Given the description of an element on the screen output the (x, y) to click on. 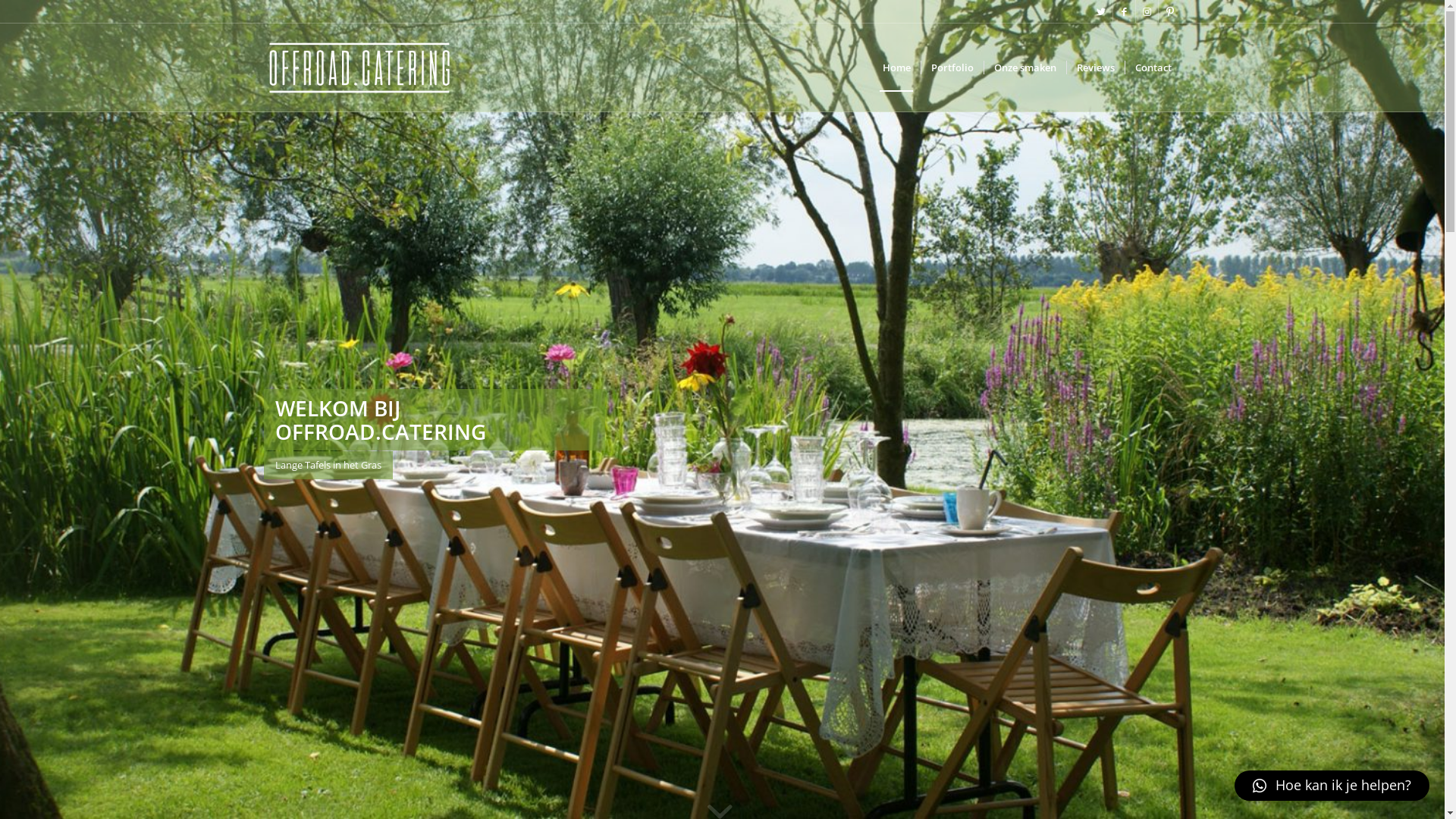
Home Element type: text (895, 67)
Facebook Element type: hover (1124, 11)
Twitter Element type: hover (1101, 11)
Pinterest Element type: hover (1169, 11)
Contact Element type: text (1151, 67)
Hoe kan ik je helpen? Element type: text (1331, 785)
Reviews Element type: text (1095, 67)
Portfolio Element type: text (951, 67)
Instagram Element type: hover (1146, 11)
Onze smaken Element type: text (1023, 67)
